Given the description of an element on the screen output the (x, y) to click on. 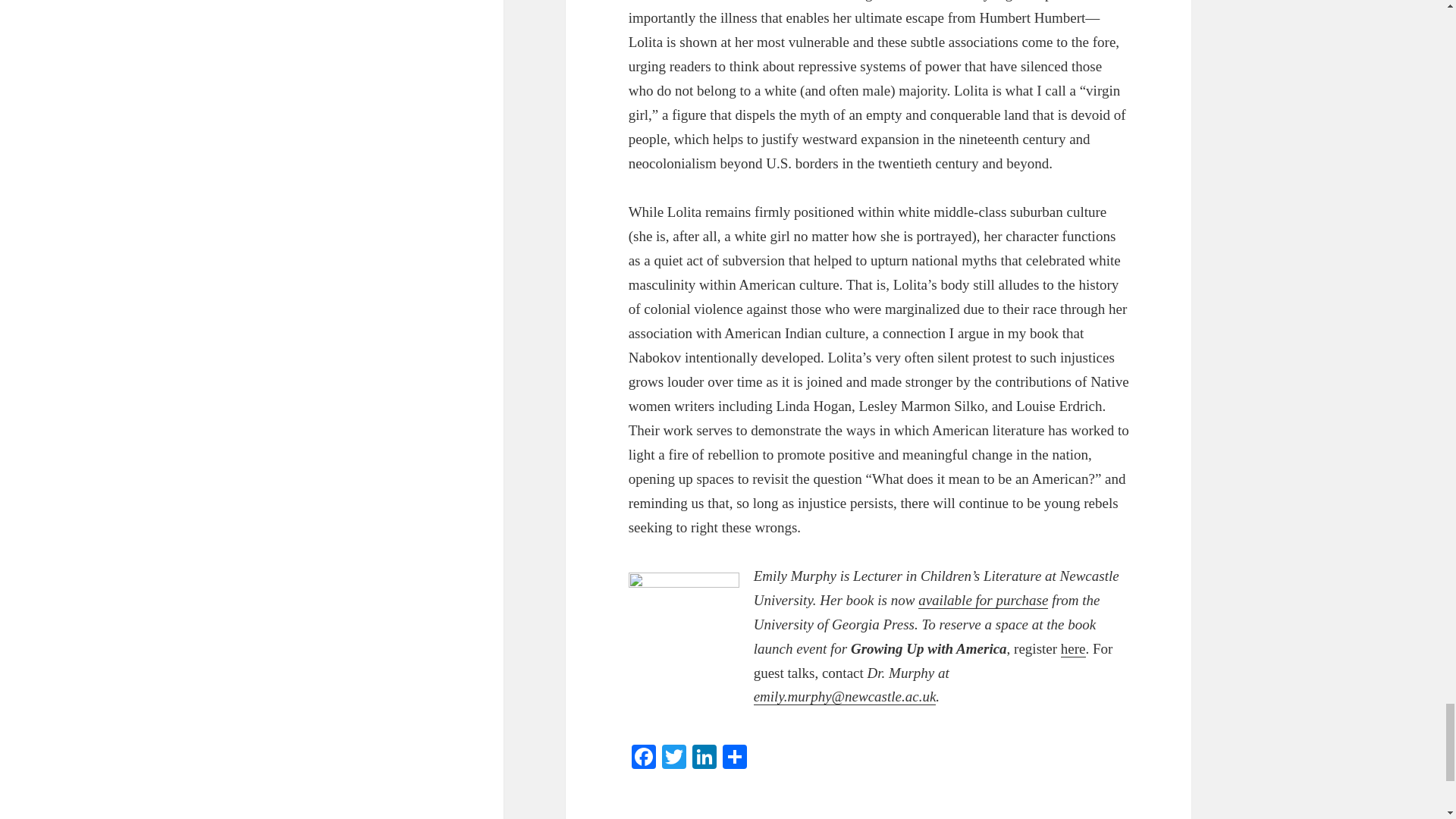
Twitter (673, 758)
LinkedIn (703, 758)
Facebook (643, 758)
